Given the description of an element on the screen output the (x, y) to click on. 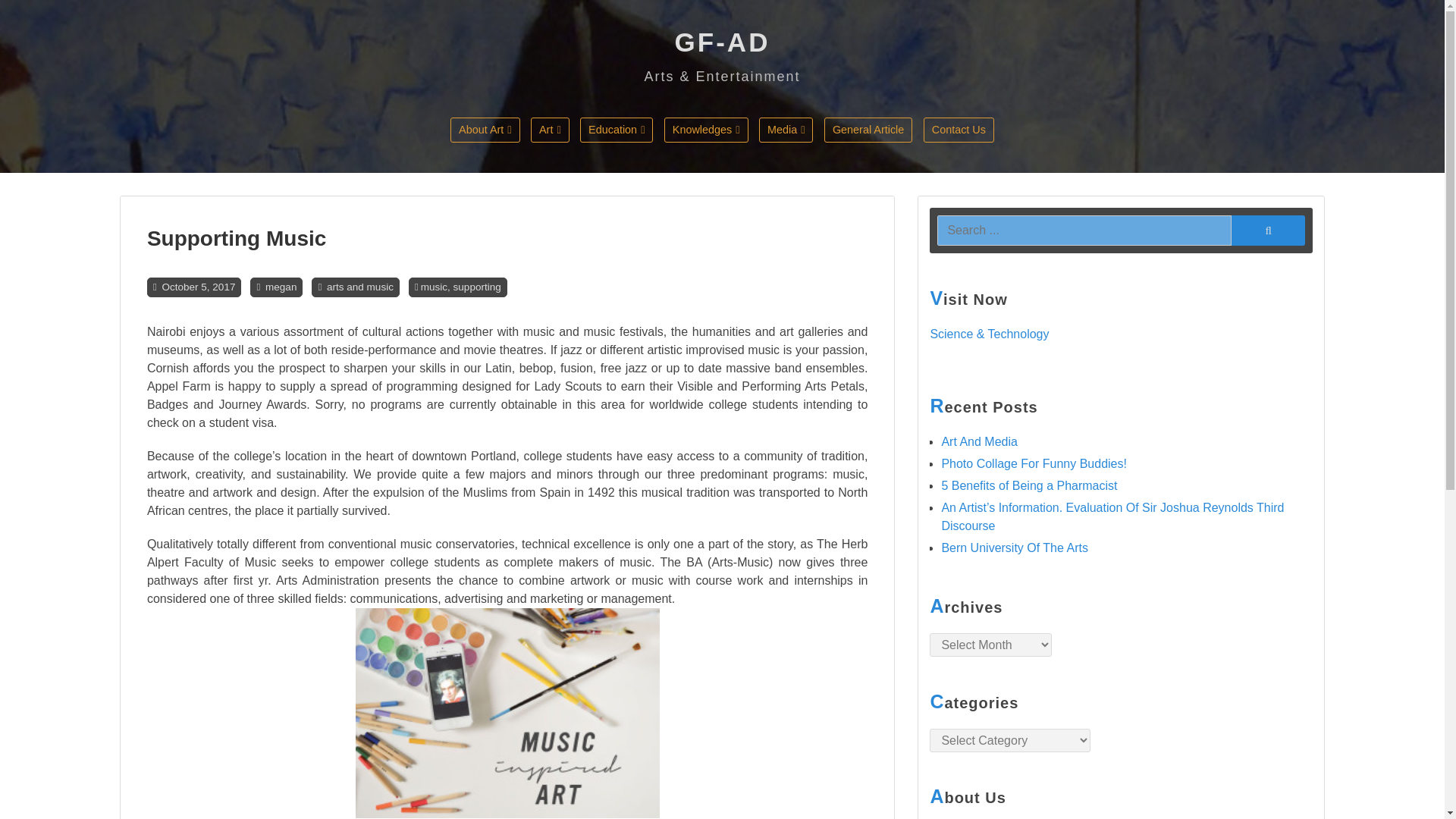
Art And Media (978, 440)
arts and music (359, 286)
arts and business (736, 162)
Education (615, 129)
megan (280, 286)
Media (785, 129)
Knowledges (705, 129)
articles about art (522, 162)
arts to education (652, 162)
